Given the description of an element on the screen output the (x, y) to click on. 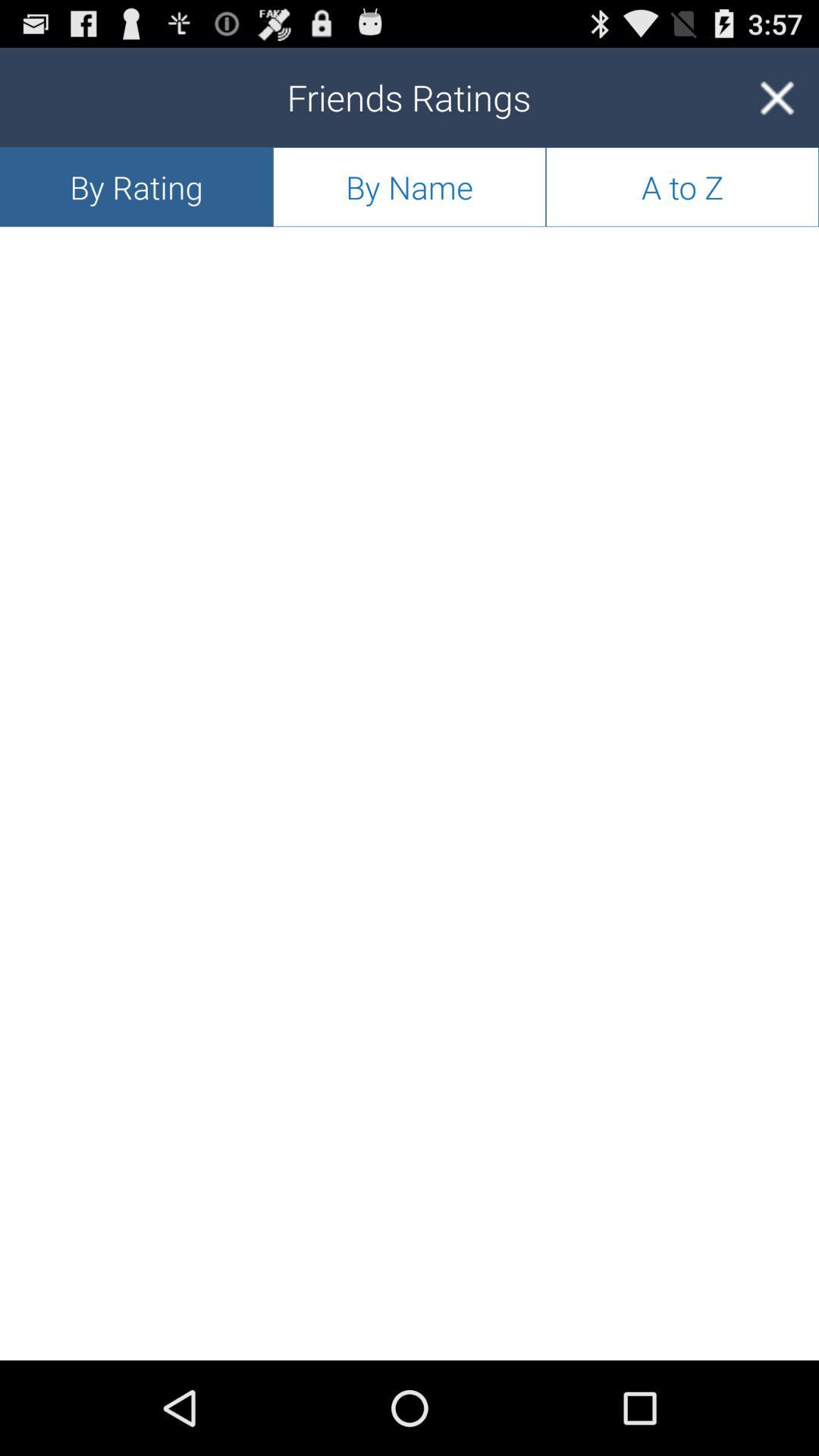
turn on by rating app (136, 186)
